Given the description of an element on the screen output the (x, y) to click on. 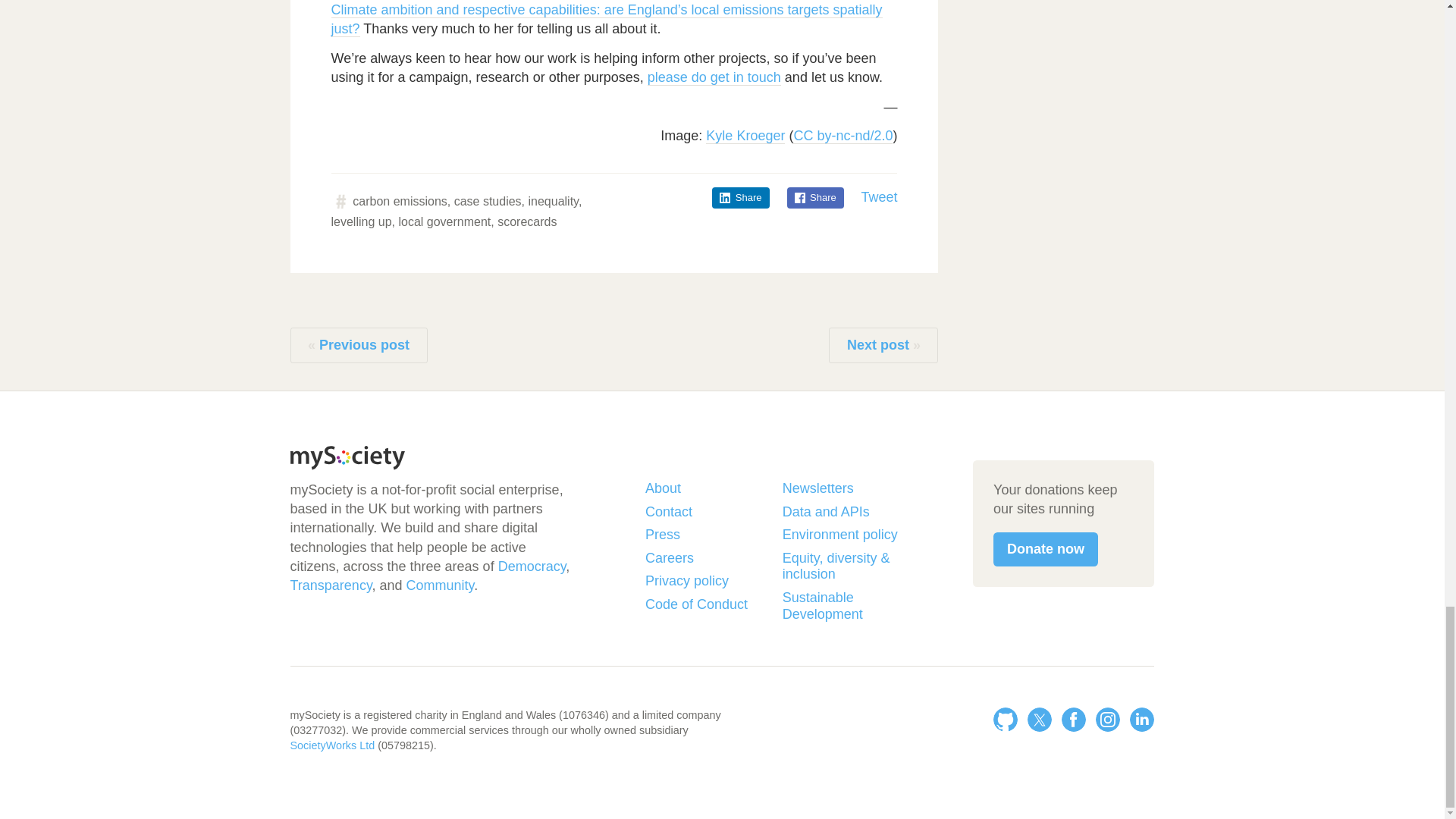
carbon emissions (399, 201)
Code of Conduct (706, 605)
levelling up (360, 221)
Previous post (357, 345)
Share (739, 197)
Next post (882, 345)
local government (443, 221)
case studies (487, 201)
Kyle Kroeger (745, 135)
Tweet (878, 196)
scorecards (526, 221)
please do get in touch (713, 77)
Share (815, 197)
inequality (552, 201)
